Given the description of an element on the screen output the (x, y) to click on. 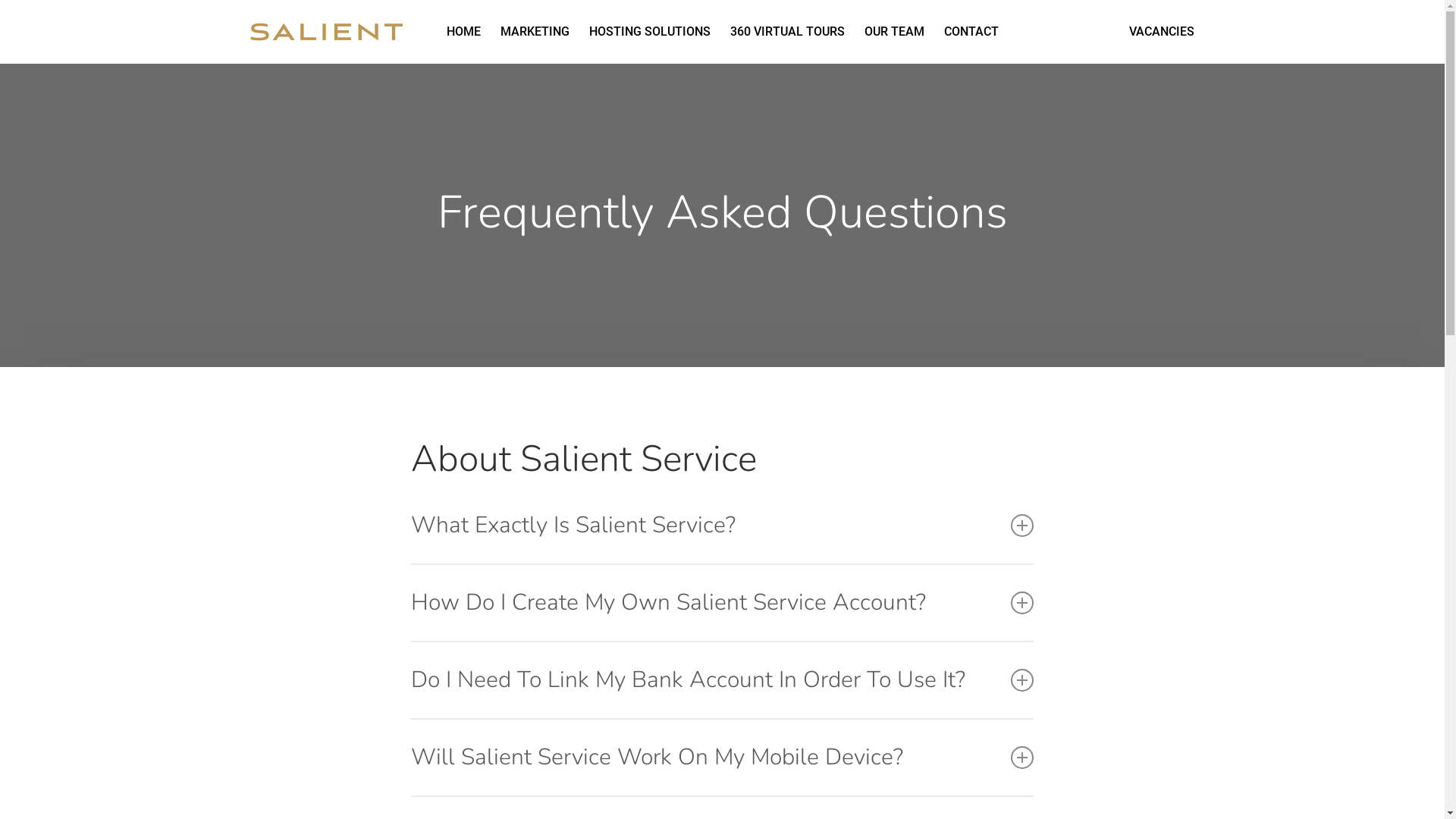
CONTACT Element type: text (970, 31)
MARKETING Element type: text (534, 31)
Do I Need To Link My Bank Account In Order To Use It? Element type: text (722, 680)
360 VIRTUAL TOURS Element type: text (786, 31)
OUR TEAM Element type: text (894, 31)
HOSTING SOLUTIONS Element type: text (648, 31)
How Do I Create My Own Salient Service Account? Element type: text (722, 602)
VACANCIES Element type: text (1161, 31)
HOME Element type: text (462, 31)
What Exactly Is Salient Service? Element type: text (722, 525)
Will Salient Service Work On My Mobile Device? Element type: text (722, 757)
